Given the description of an element on the screen output the (x, y) to click on. 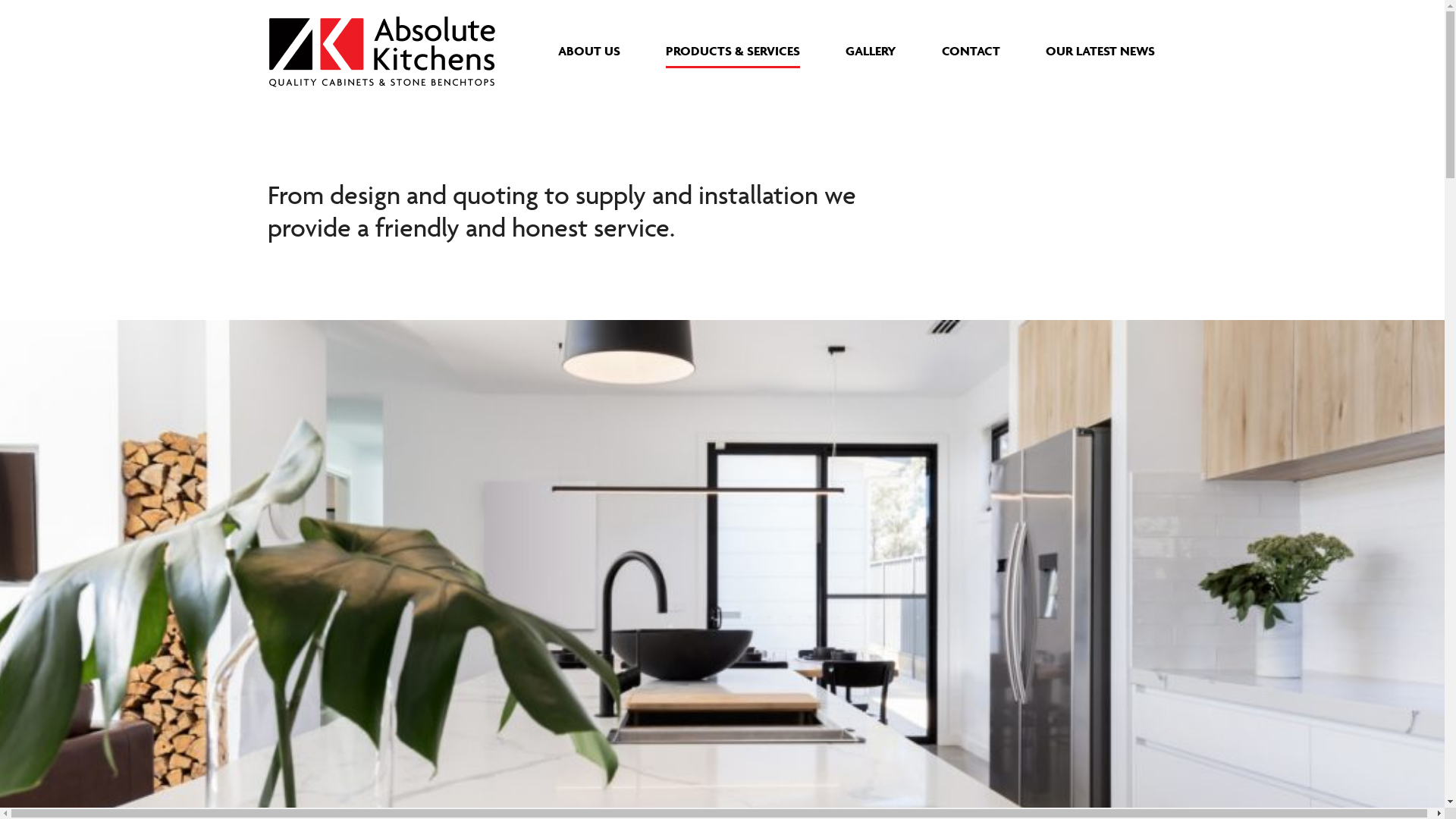
OUR LATEST NEWS Element type: text (1099, 49)
CONTACT Element type: text (970, 49)
PRODUCTS & SERVICES Element type: text (732, 49)
ABOUT US Element type: text (589, 49)
GALLERY Element type: text (869, 49)
